Given the description of an element on the screen output the (x, y) to click on. 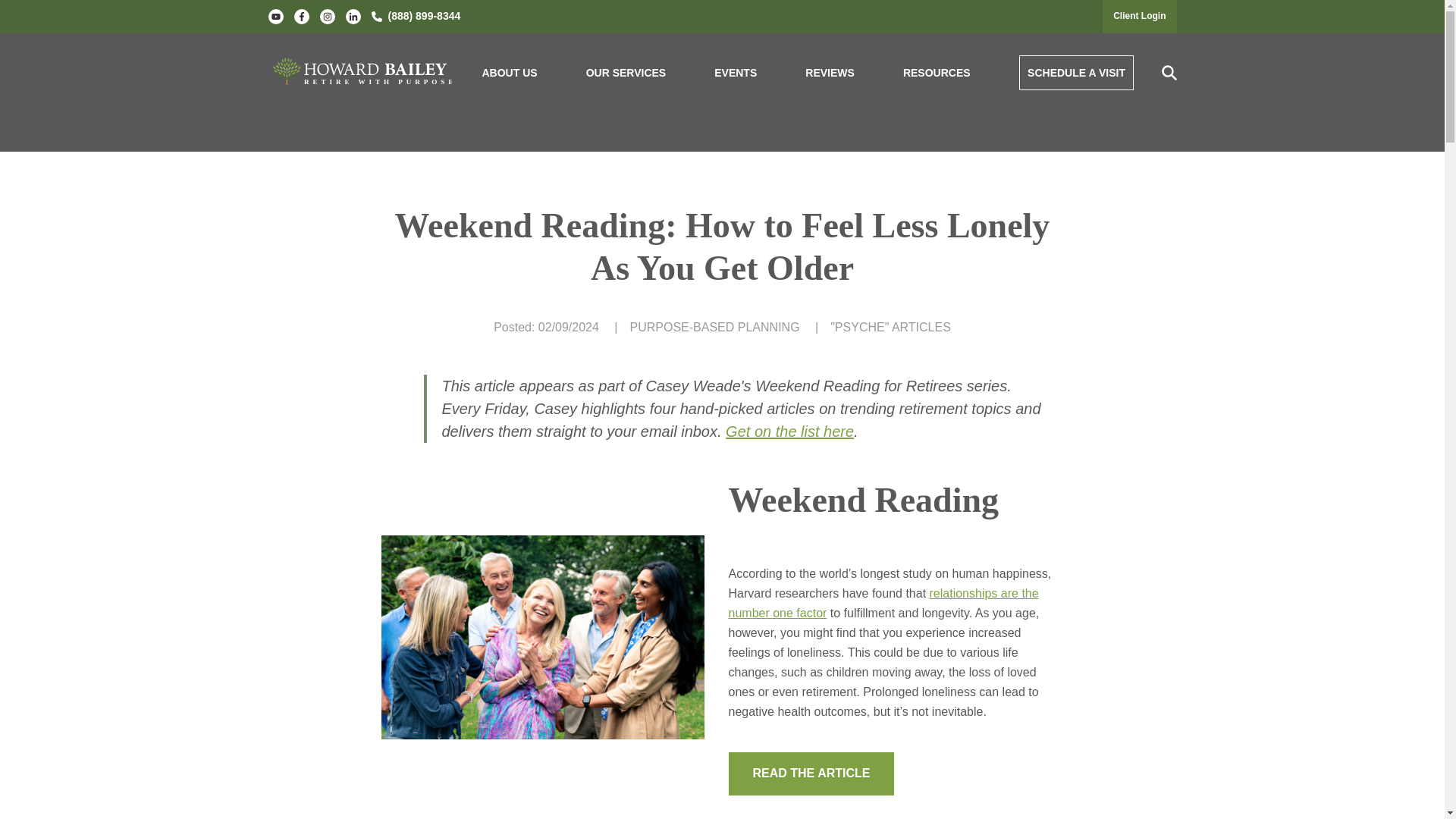
ABOUT US (509, 72)
EVENTS (735, 72)
REVIEWS (829, 72)
SCHEDULE A VISIT (1077, 72)
OUR SERVICES (626, 72)
Client Login (1139, 16)
RESOURCES (936, 72)
